Given the description of an element on the screen output the (x, y) to click on. 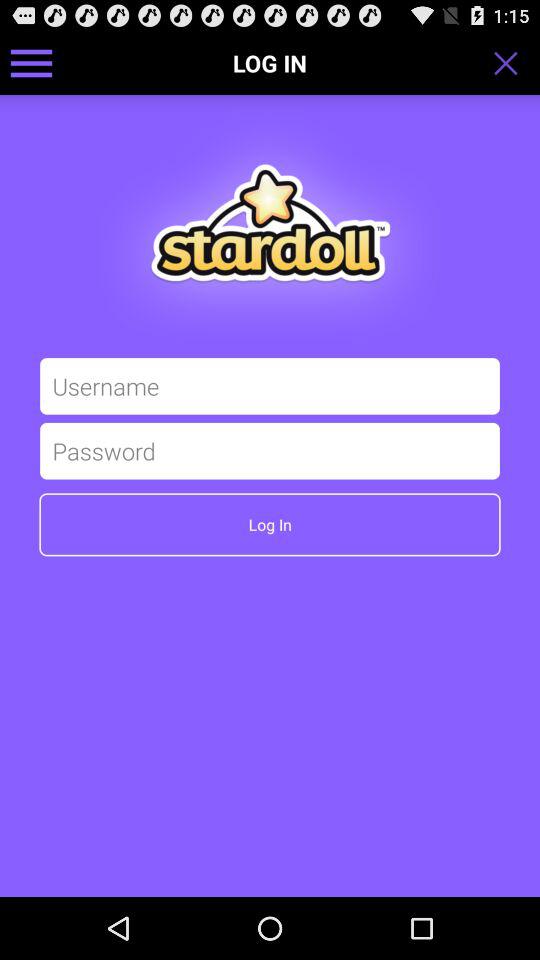
show menu for options (31, 62)
